Given the description of an element on the screen output the (x, y) to click on. 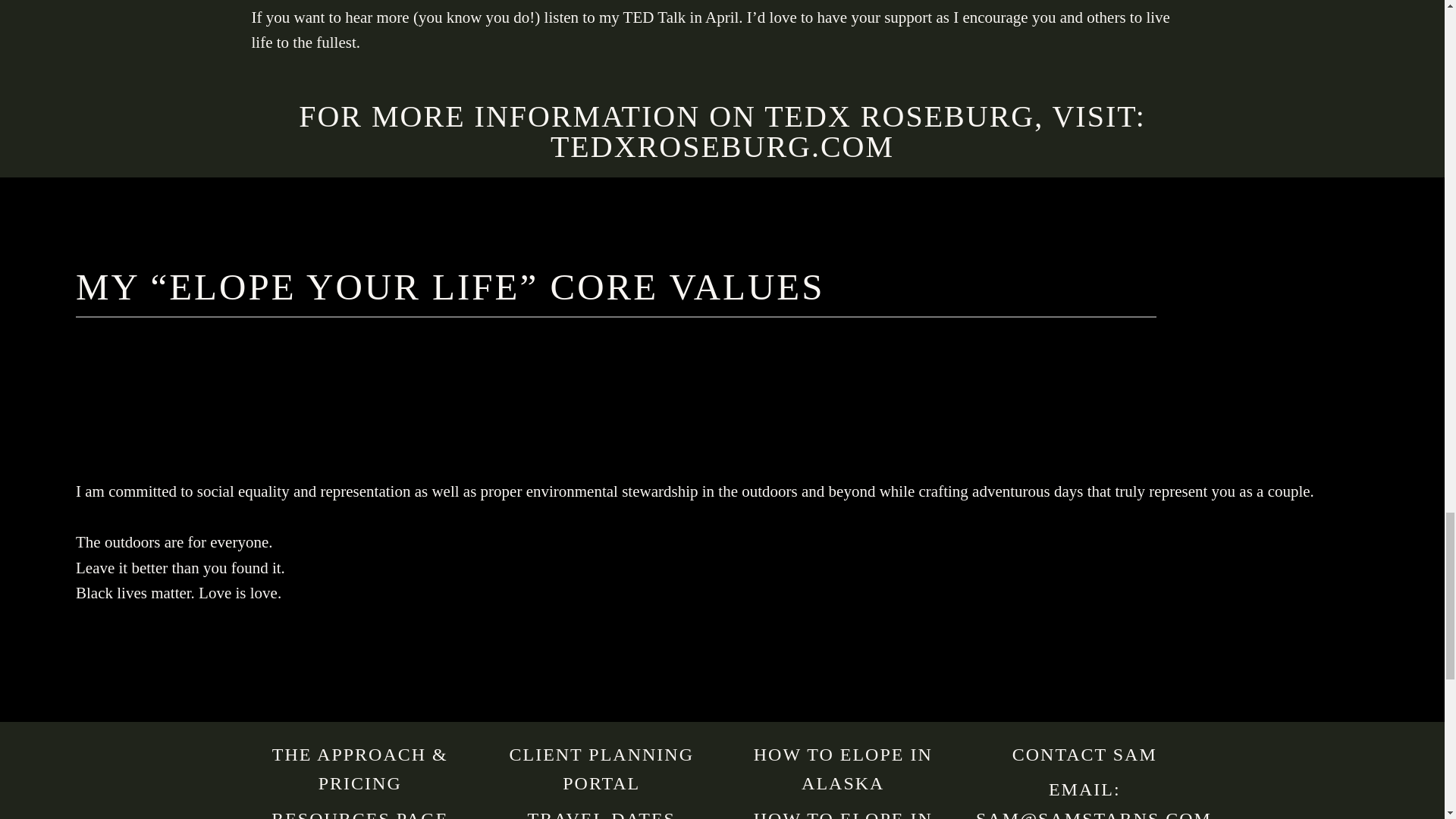
CLIENT PLANNING PORTAL (601, 768)
TRAVEL DATES (601, 814)
RESOURCES PAGE (359, 814)
